Given the description of an element on the screen output the (x, y) to click on. 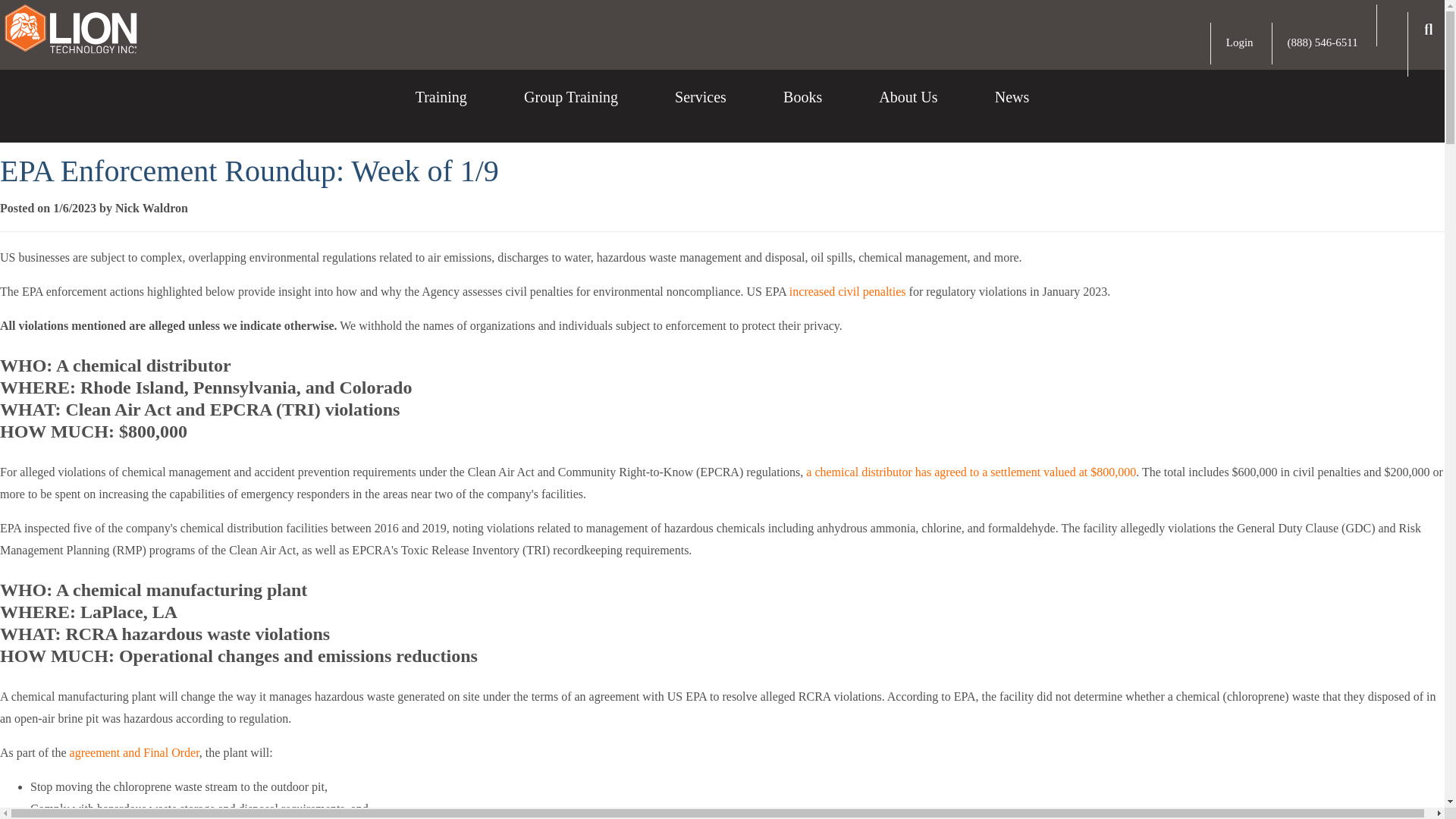
Books (802, 109)
Group Training (570, 109)
Login (1239, 42)
Services (700, 109)
About Us (908, 109)
Training (440, 109)
